Given the description of an element on the screen output the (x, y) to click on. 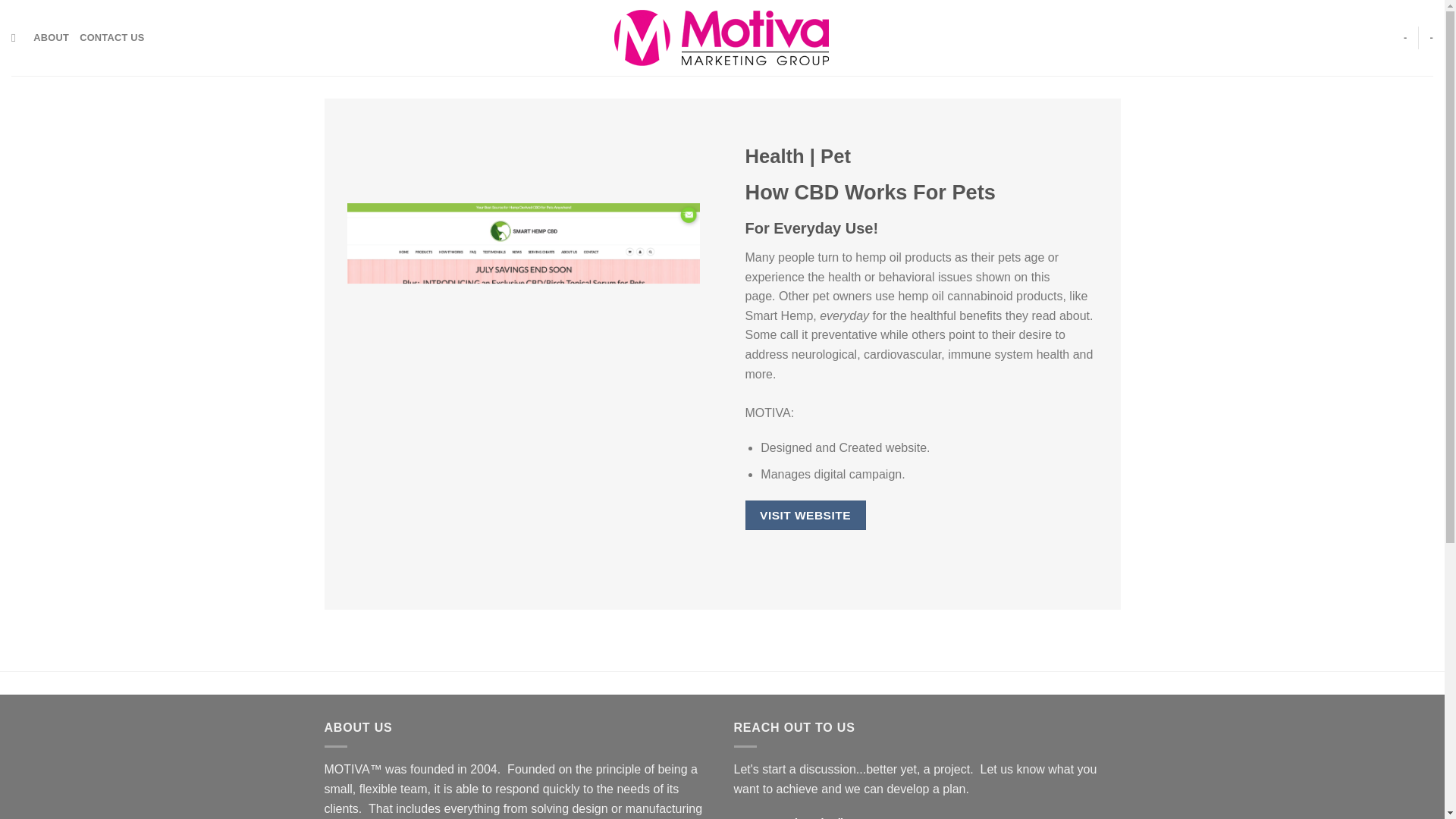
ABOUT (50, 37)
VISIT WEBSITE (804, 514)
CONTACT US (112, 37)
